Given the description of an element on the screen output the (x, y) to click on. 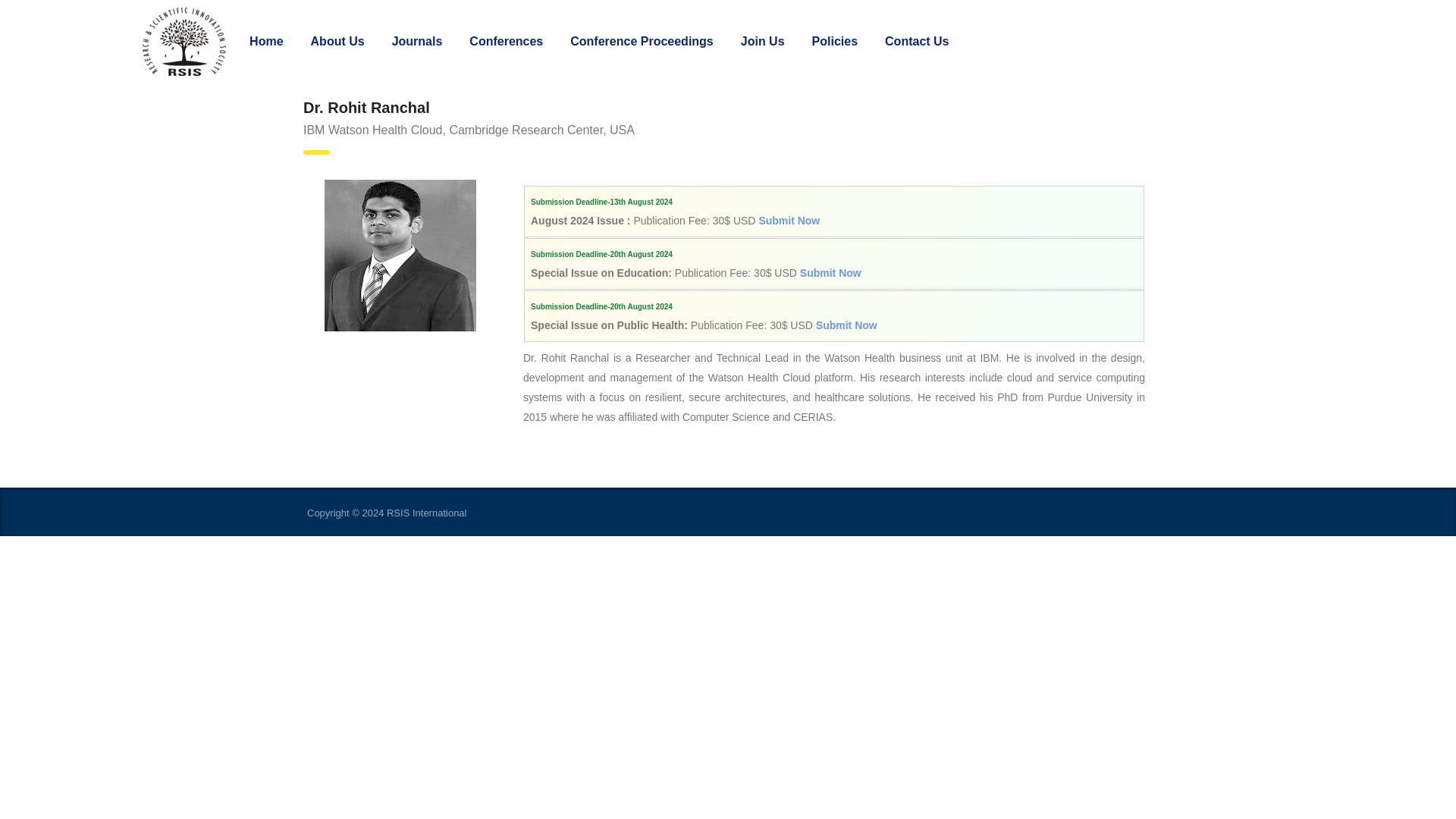
Conferences (505, 41)
Home (266, 41)
Conference Proceedings (641, 41)
Journals (417, 41)
Join Us (761, 41)
About Us (337, 41)
Submit Now (830, 272)
Submit Now (846, 325)
Submit Now (788, 220)
Contact Us (916, 41)
